Given the description of an element on the screen output the (x, y) to click on. 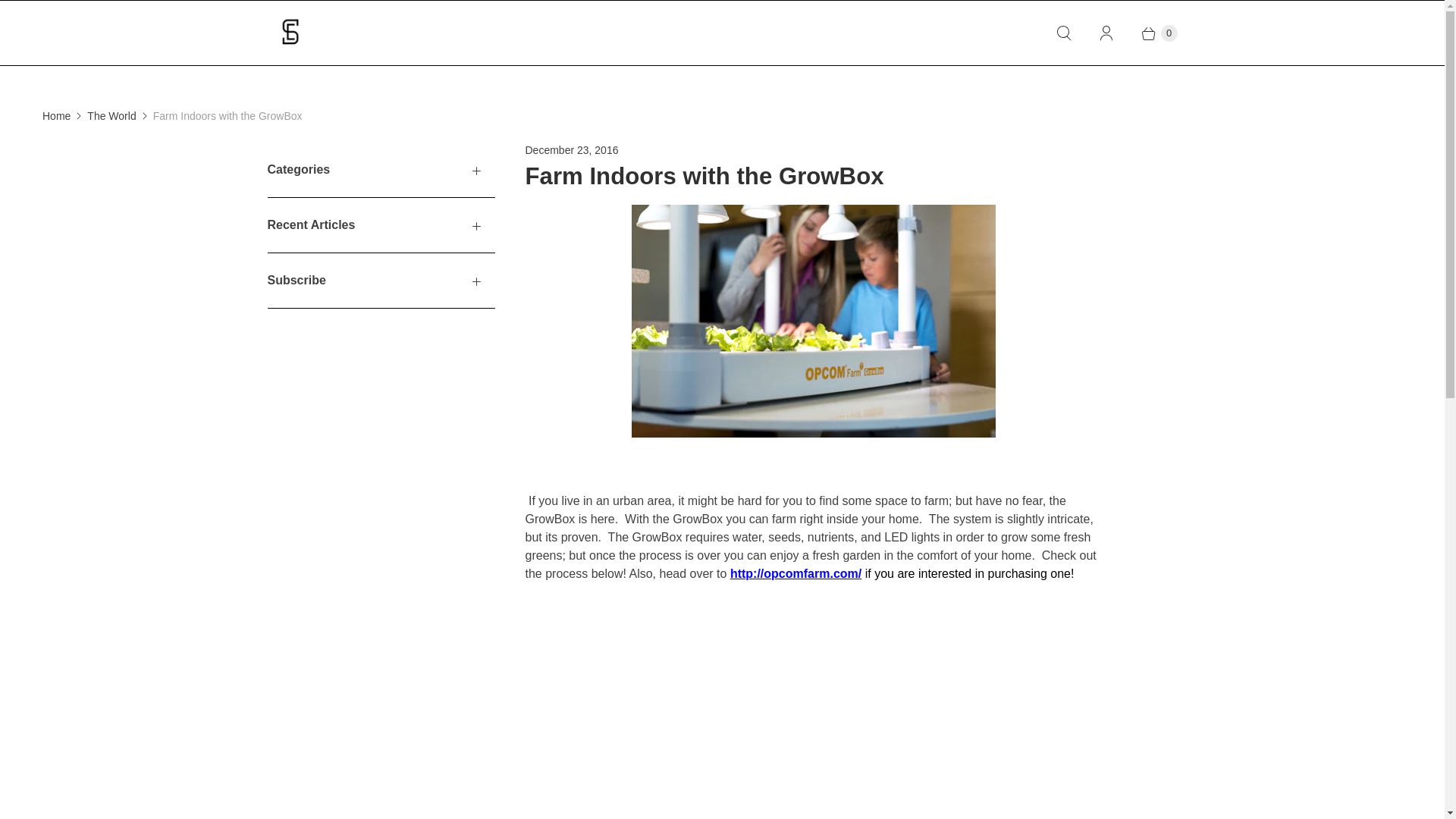
The World (111, 116)
0 (1151, 33)
Categories (380, 169)
Home (55, 116)
